Given the description of an element on the screen output the (x, y) to click on. 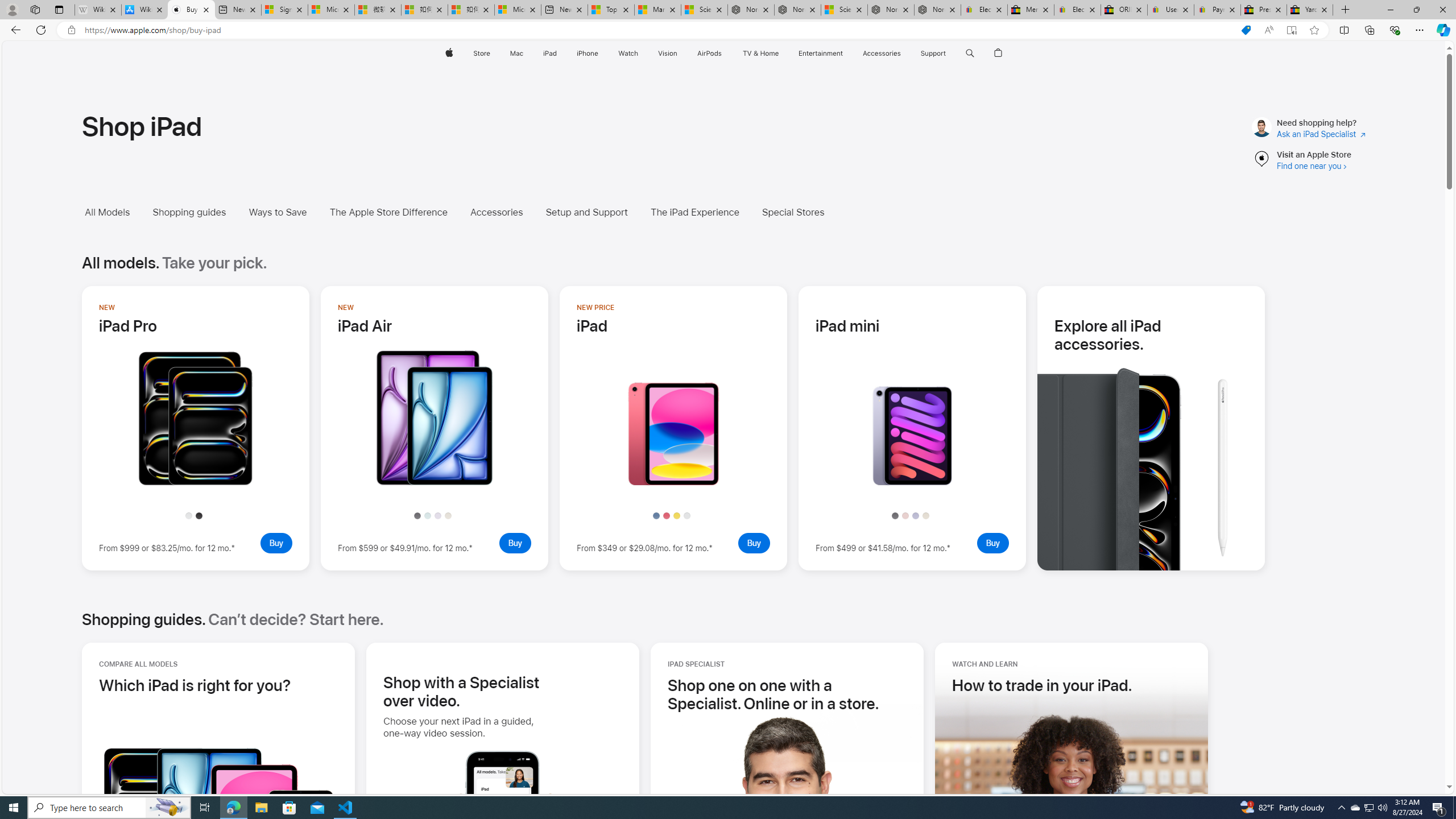
Vision (667, 53)
Yard, Garden & Outdoor Living (1309, 9)
Pink (905, 515)
Accessories (496, 212)
Shopping in Microsoft Edge (1245, 29)
iPad (550, 53)
Space Black (198, 515)
Entertainment (820, 53)
Mac (516, 53)
